Given the description of an element on the screen output the (x, y) to click on. 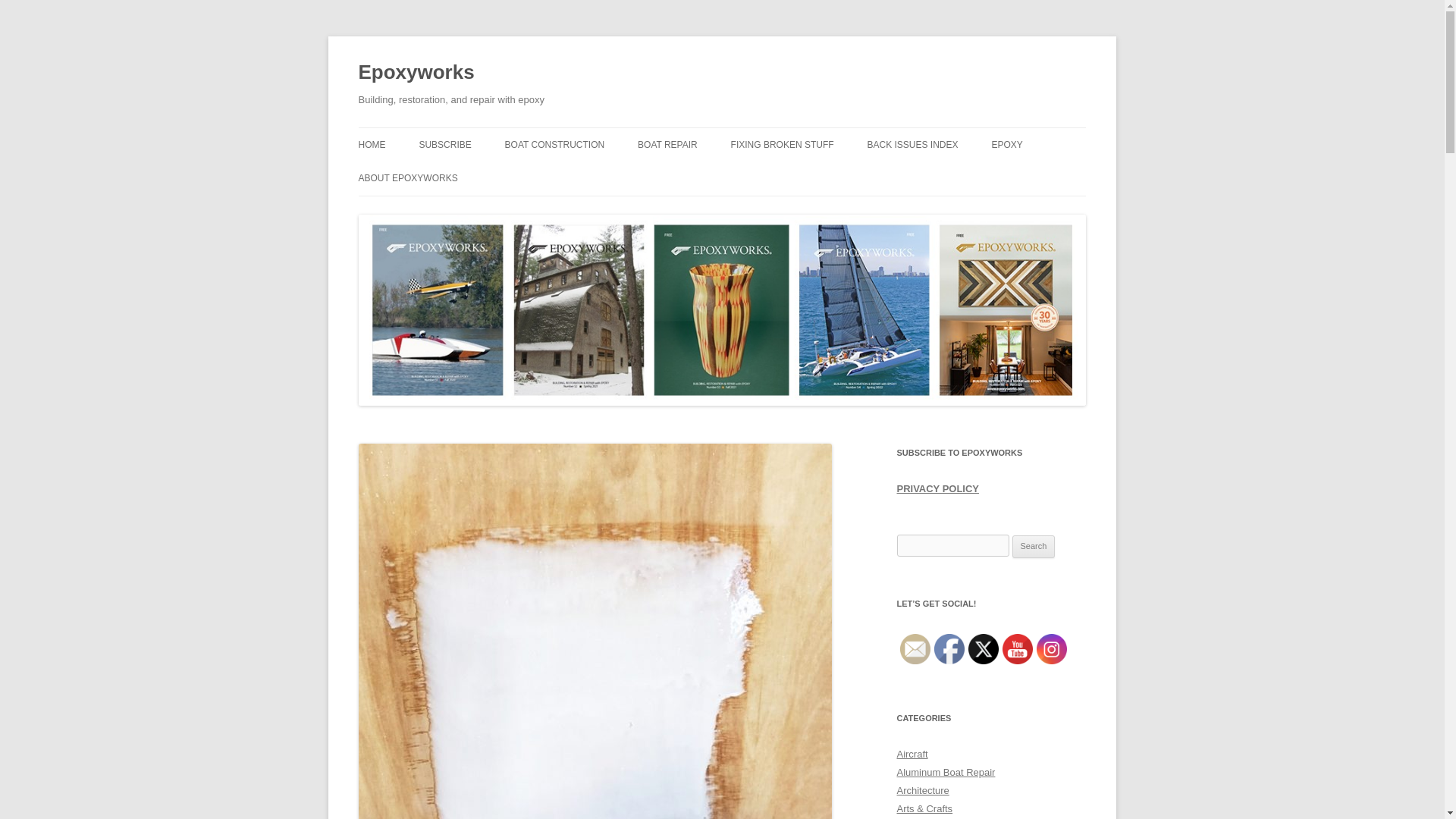
Epoxyworks (416, 72)
SUBSCRIBE (444, 144)
BOAT CONSTRUCTION (555, 144)
Follow by Email (914, 648)
EPOXY (1006, 144)
BOAT REPAIR (667, 144)
Aluminum Boat Repair (945, 772)
ABOUT EPOXYWORKS (407, 177)
Twitter (982, 648)
Instagram (1050, 648)
